Given the description of an element on the screen output the (x, y) to click on. 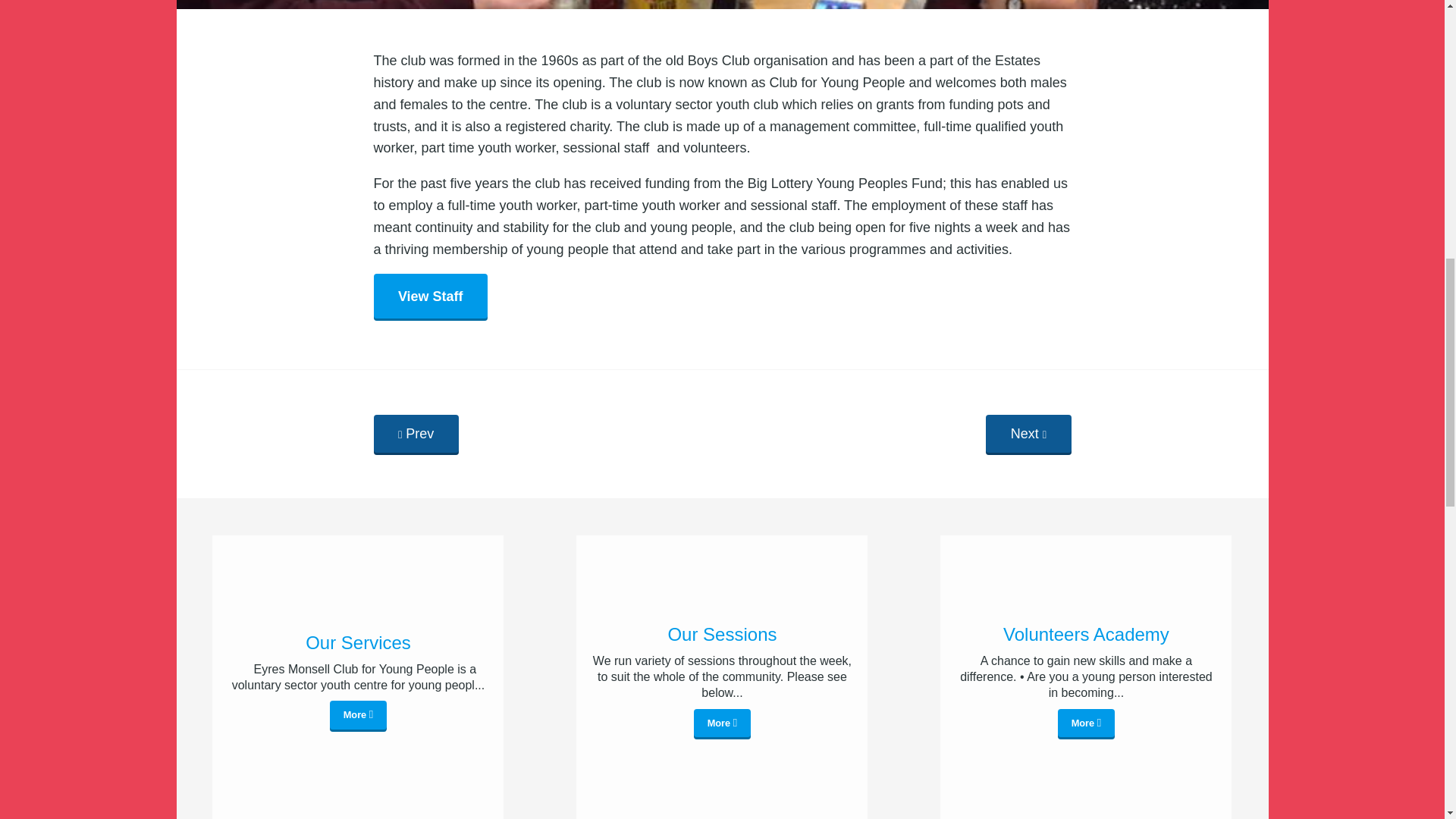
Our Services (357, 642)
View Staff (429, 297)
Our Sessions (722, 724)
More (1086, 724)
Our Sessions (721, 634)
Our Services (357, 642)
Next (1027, 434)
Volunteers Academy (1085, 634)
Prev (415, 434)
Volunteers Academy (1085, 634)
